Given the description of an element on the screen output the (x, y) to click on. 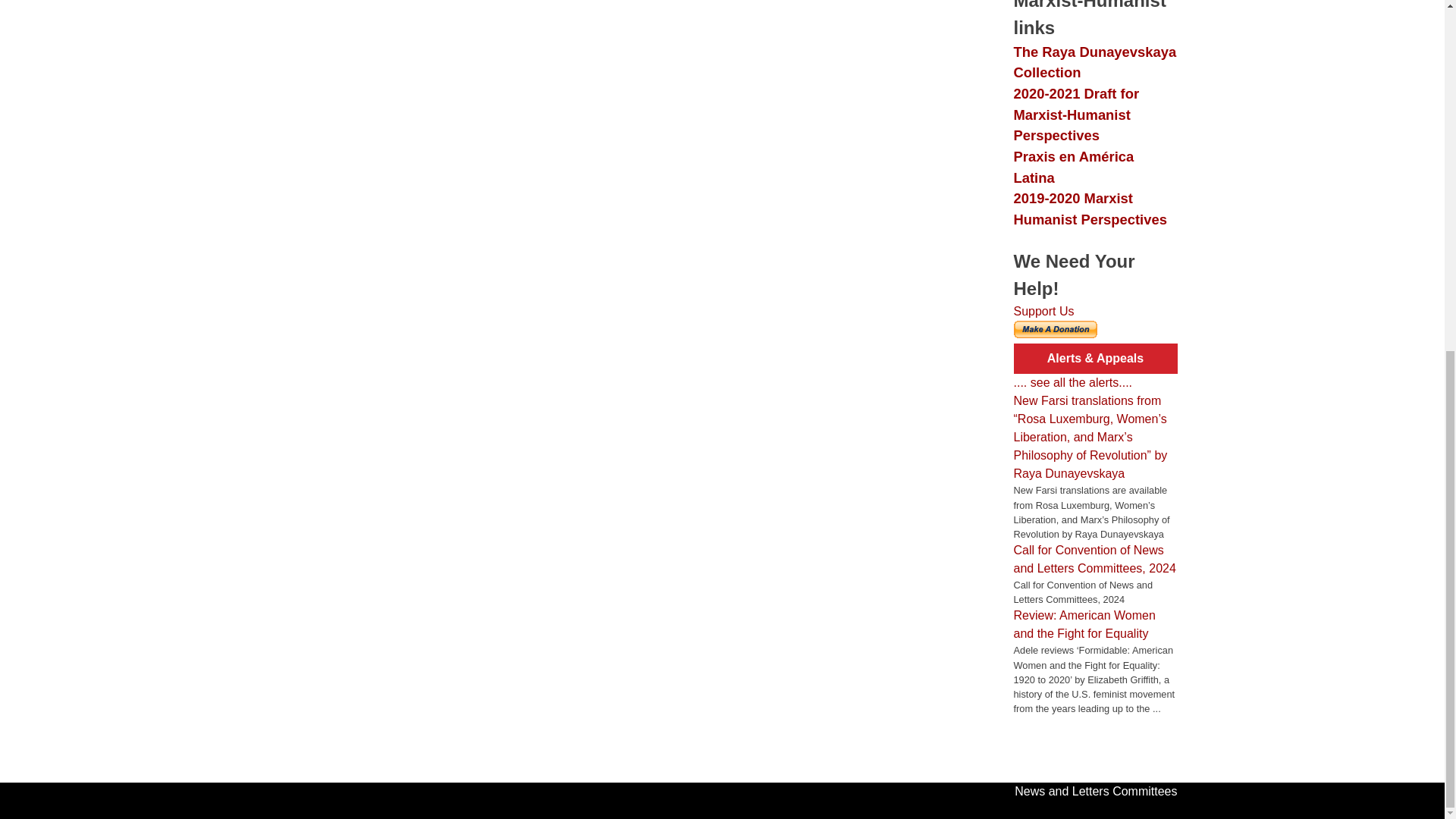
2020-2021 Draft for Marxist-Humanist Perspectives (1075, 114)
.... see all the alerts.... (1072, 382)
2019-2020 Marxist Humanist Perspectives (1089, 208)
The Raya Dunayevskaya Collection (1094, 62)
Support Us (1043, 310)
